Given the description of an element on the screen output the (x, y) to click on. 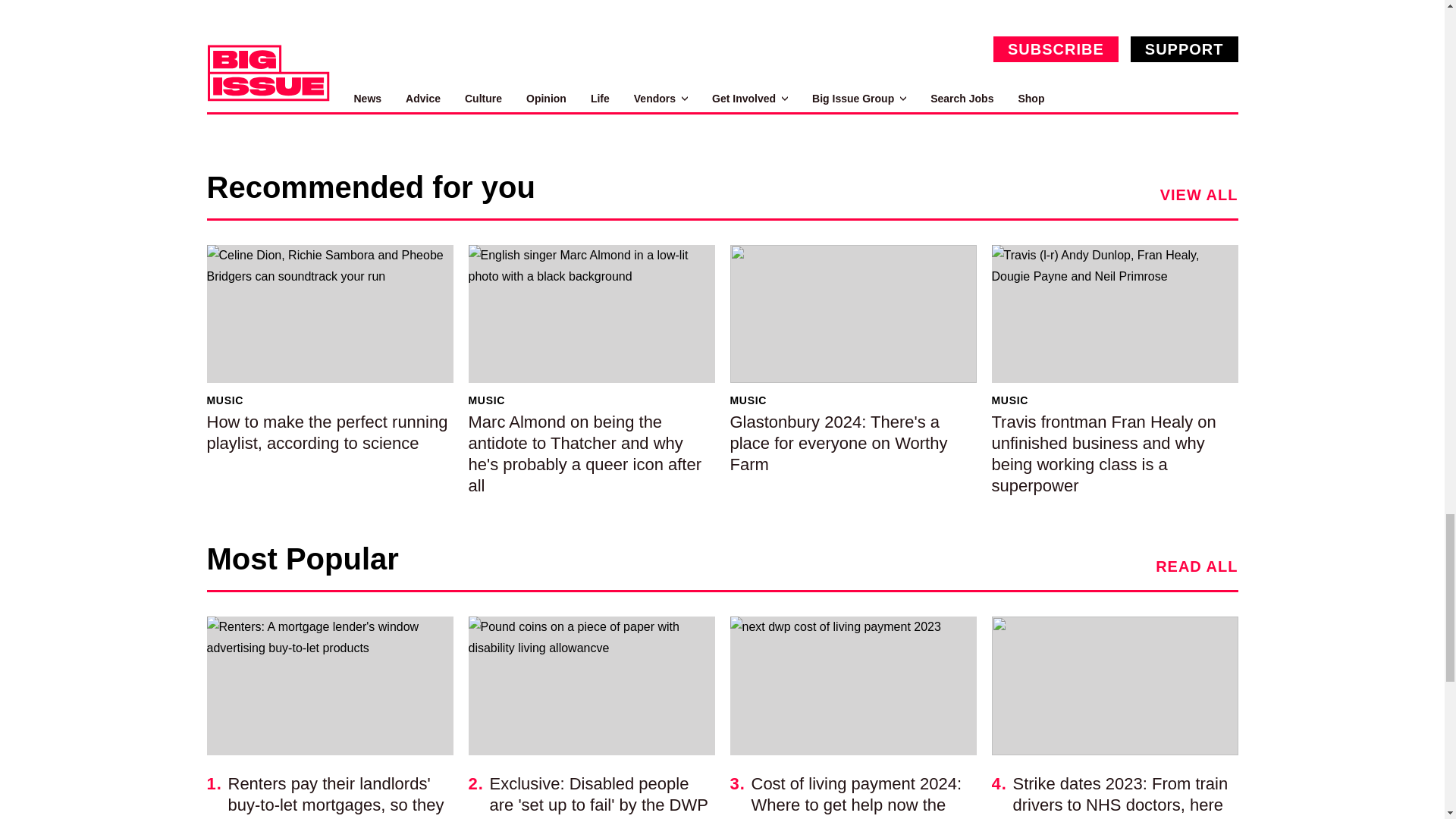
FIND MY VENDOR (333, 13)
